Given the description of an element on the screen output the (x, y) to click on. 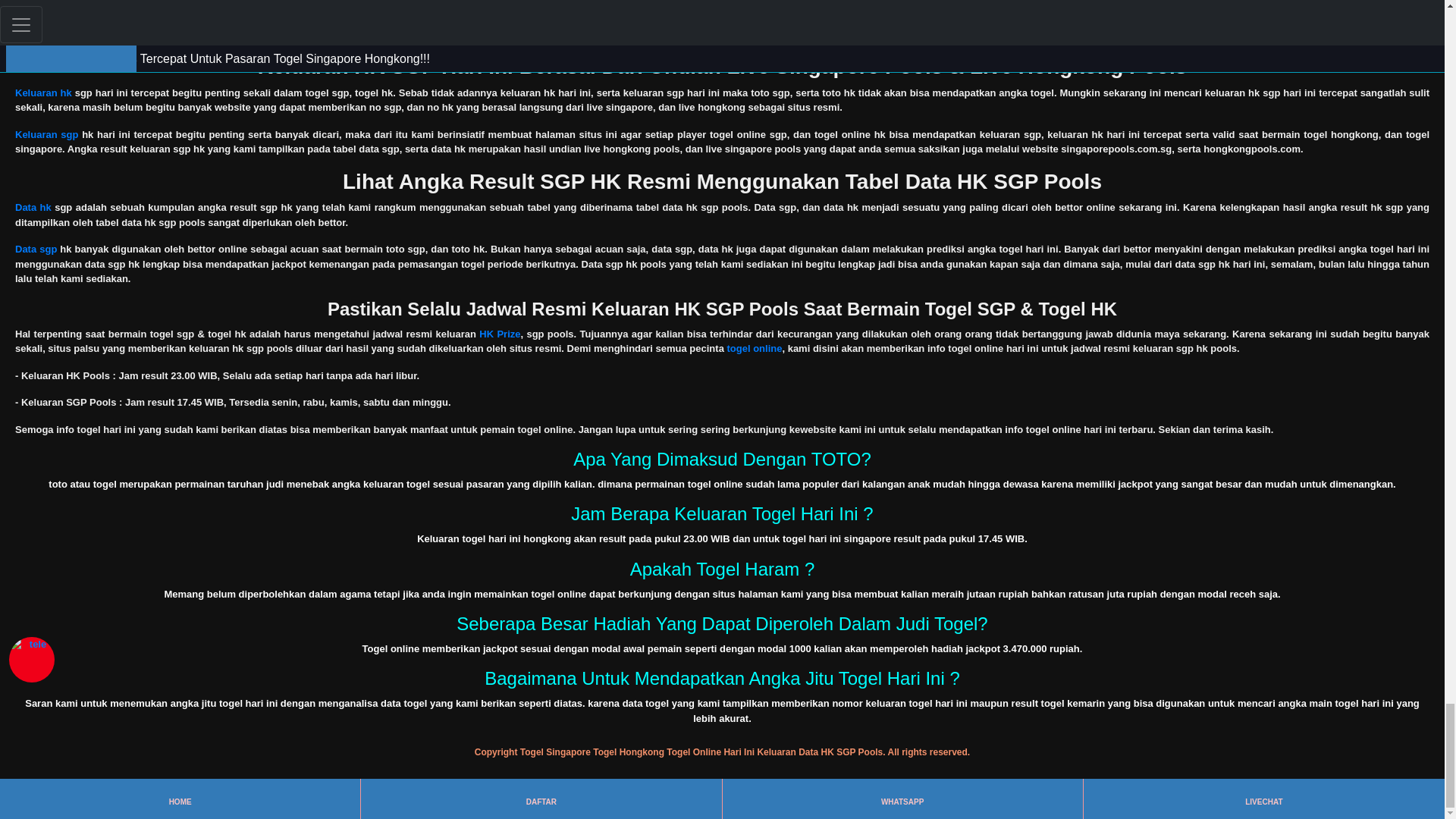
HK Prize (499, 333)
Togel hari ini (45, 19)
togel online (753, 348)
Keluaran hk (42, 92)
Data hk (32, 206)
Data sgp (35, 248)
Keluaran sgp (46, 134)
